Given the description of an element on the screen output the (x, y) to click on. 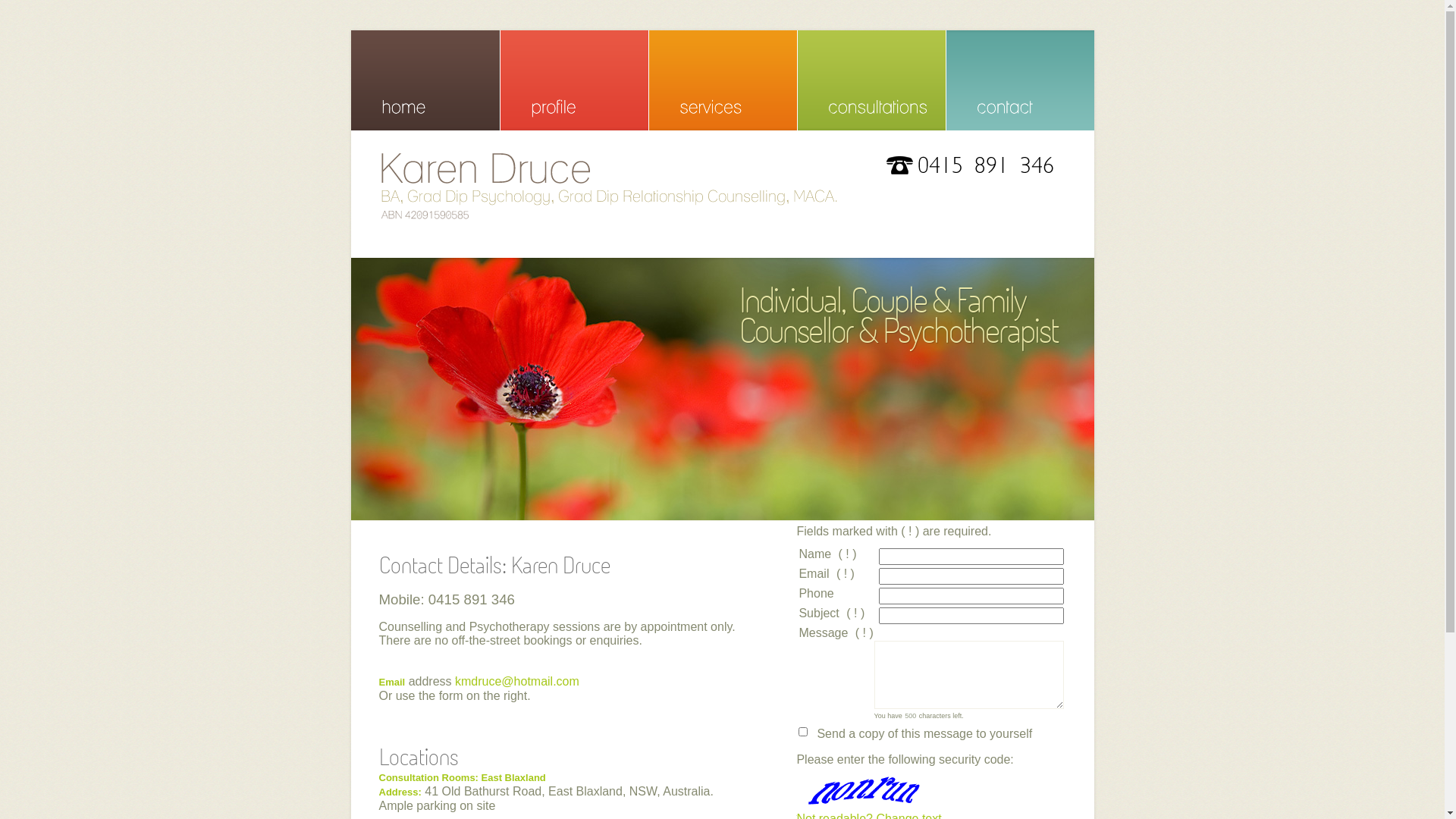
Karen Druce Element type: hover (609, 186)
kmdruce@hotmail.com Element type: text (517, 680)
Karen Druce Element type: hover (716, 186)
